Given the description of an element on the screen output the (x, y) to click on. 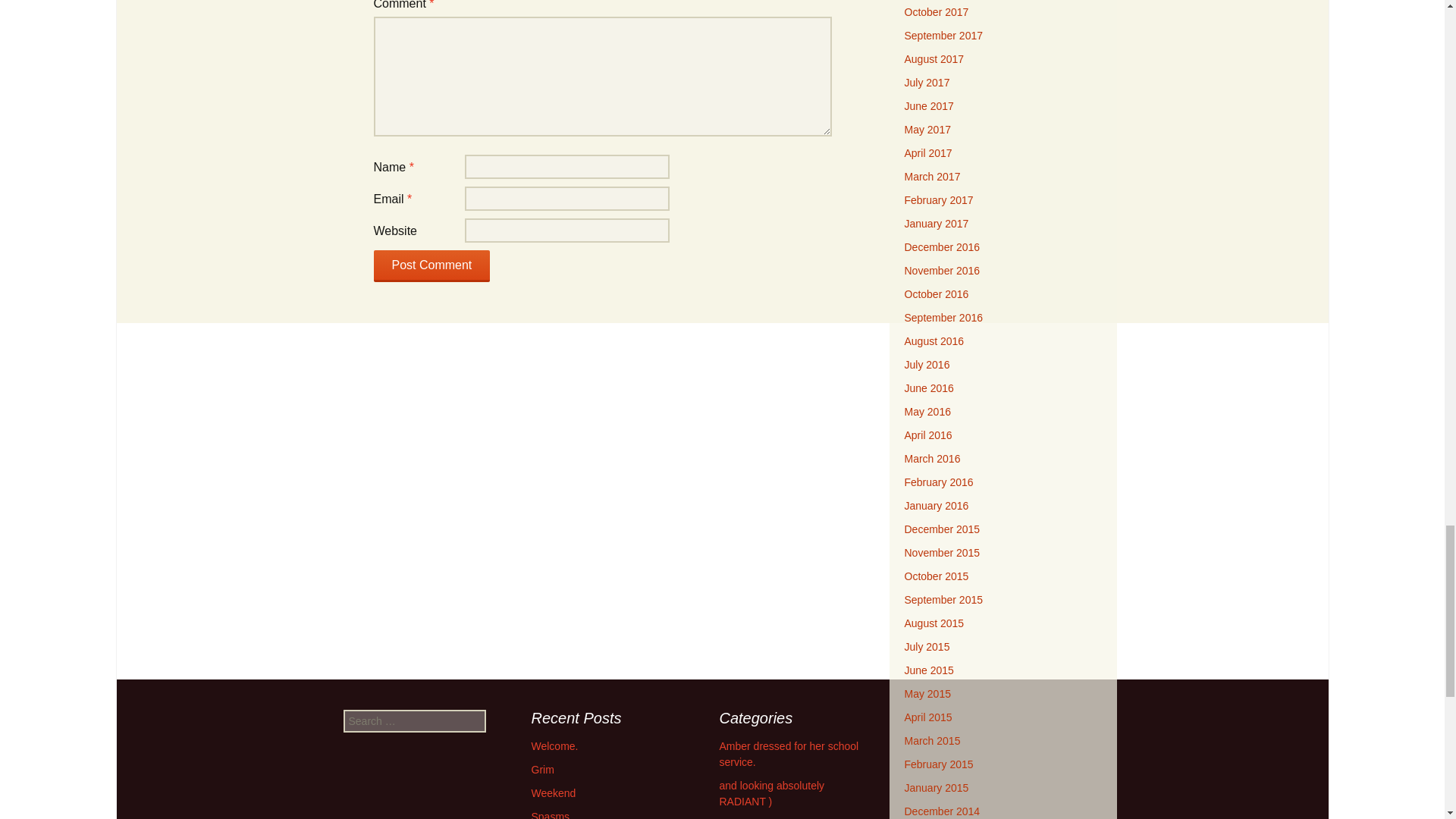
Post Comment (430, 265)
Post Comment (430, 265)
